Given the description of an element on the screen output the (x, y) to click on. 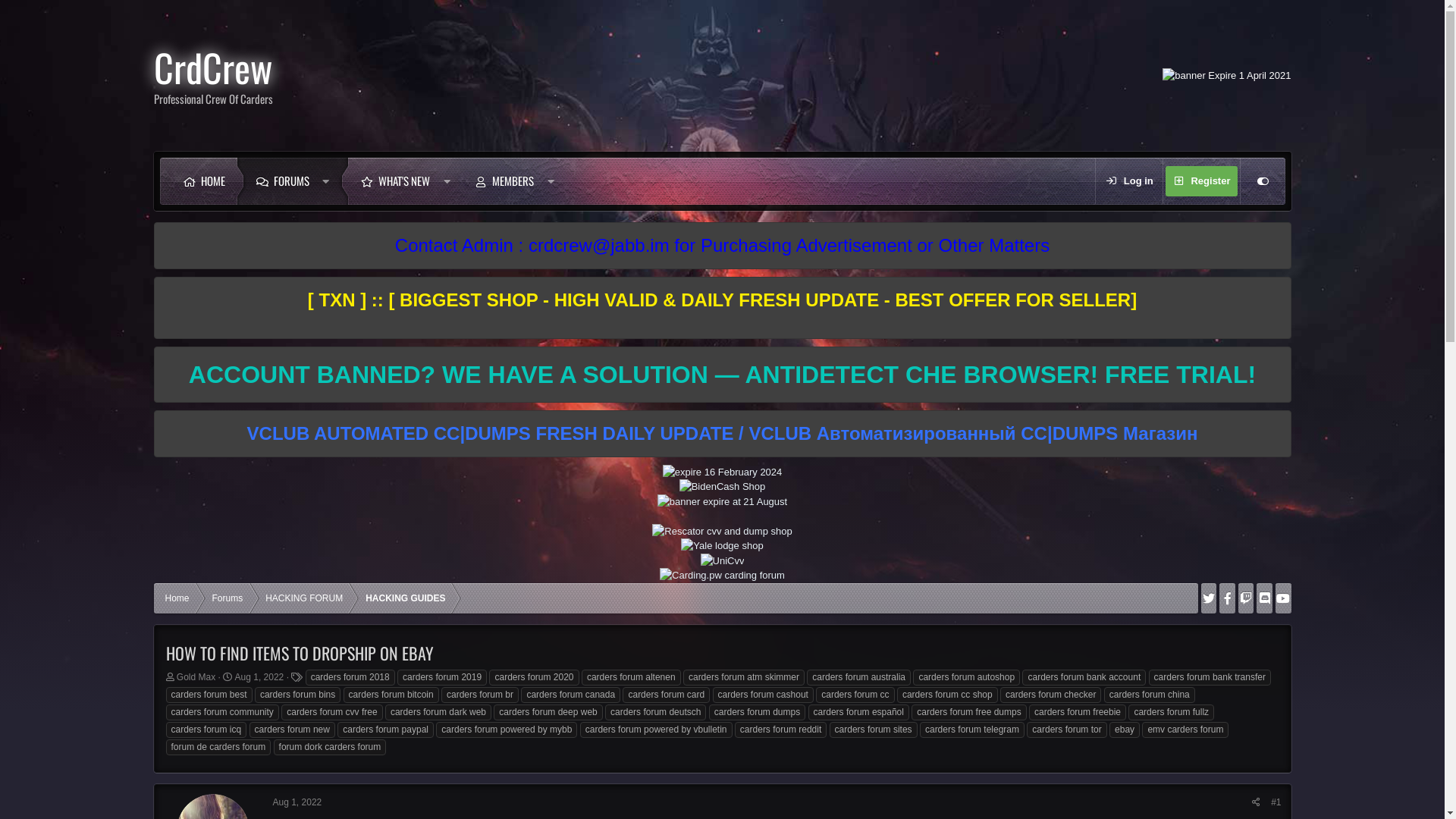
carders forum sites Element type: text (873, 729)
carders forum deutsch Element type: text (655, 711)
carders forum card Element type: text (665, 694)
forum de carders forum Element type: text (217, 746)
Home Element type: text (176, 597)
carders forum cc shop Element type: text (947, 694)
carders forum bins Element type: text (297, 694)
Thread starter Element type: hover (169, 675)
Aug 1, 2022 Element type: text (259, 676)
carders forum paypal Element type: text (385, 729)
carders forum new Element type: text (292, 729)
carders forum australia Element type: text (858, 676)
carders forum china Element type: text (1149, 694)
carders forum atm skimmer Element type: text (743, 676)
carders forum bitcoin Element type: text (391, 694)
carders forum 2018 Element type: text (350, 676)
Aug 1, 2022 Element type: text (297, 801)
HOME Element type: text (202, 180)
carders forum fullz Element type: text (1171, 711)
forum dork carders forum Element type: text (329, 746)
carders forum dumps Element type: text (757, 711)
carders forum canada Element type: text (570, 694)
HACKING FORUM Element type: text (304, 597)
carders forum tor Element type: text (1066, 729)
emv carders forum Element type: text (1185, 729)
Log in Element type: text (1128, 180)
carders forum deep web Element type: text (547, 711)
carders forum free dumps Element type: text (968, 711)
carders forum best Element type: text (208, 694)
carders forum 2020 Element type: text (533, 676)
carders forum freebie Element type: text (1077, 711)
carders forum cvv free Element type: text (331, 711)
ebay Element type: text (1124, 729)
WHAT'S NEW Element type: text (395, 180)
Gold Max Element type: text (195, 676)
carders forum icq Element type: text (205, 729)
carders forum 2019 Element type: text (441, 676)
carders forum telegram Element type: text (971, 729)
carders forum autoshop Element type: text (966, 676)
carders forum bank transfer Element type: text (1209, 676)
carders forum checker Element type: text (1050, 694)
carders forum community Element type: text (221, 711)
CrdCrew
Professional Crew Of Carders Element type: text (212, 75)
HACKING GUIDES Element type: text (405, 597)
carders forum powered by mybb Element type: text (506, 729)
Forums Element type: text (227, 597)
carders forum cashout Element type: text (762, 694)
MEMBERS Element type: text (503, 180)
carders forum reddit Element type: text (780, 729)
carders forum cc Element type: text (854, 694)
FORUMS Element type: text (281, 180)
carders forum bank account Element type: text (1083, 676)
#1 Element type: text (1275, 801)
Register Element type: text (1200, 180)
Tags Element type: hover (296, 675)
carders forum altenen Element type: text (630, 676)
carders forum powered by vbulletin Element type: text (656, 729)
carders forum dark web Element type: text (438, 711)
carders forum br Element type: text (479, 694)
Start date Element type: hover (227, 675)
